Given the description of an element on the screen output the (x, y) to click on. 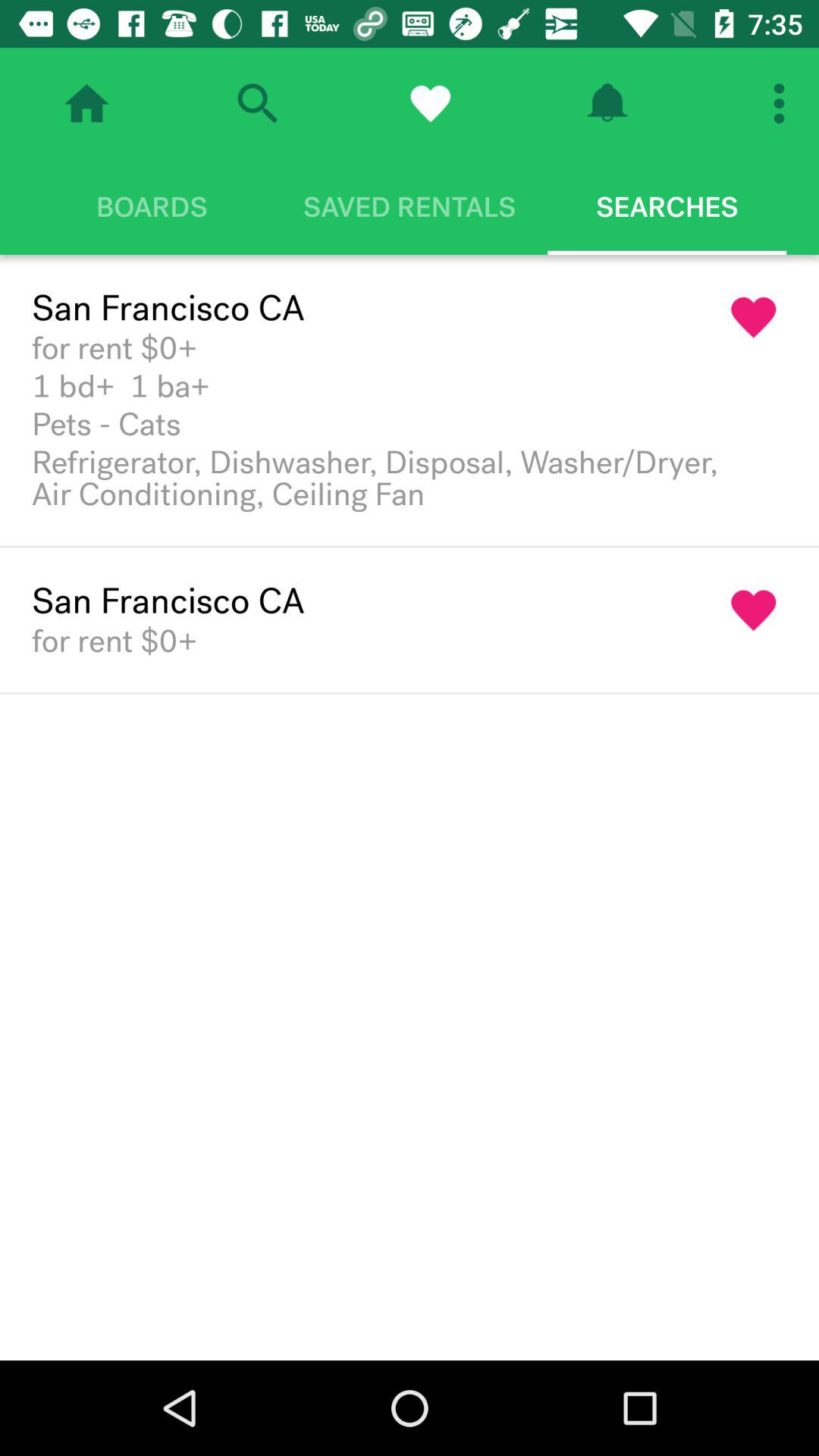
open search entry (257, 103)
